Given the description of an element on the screen output the (x, y) to click on. 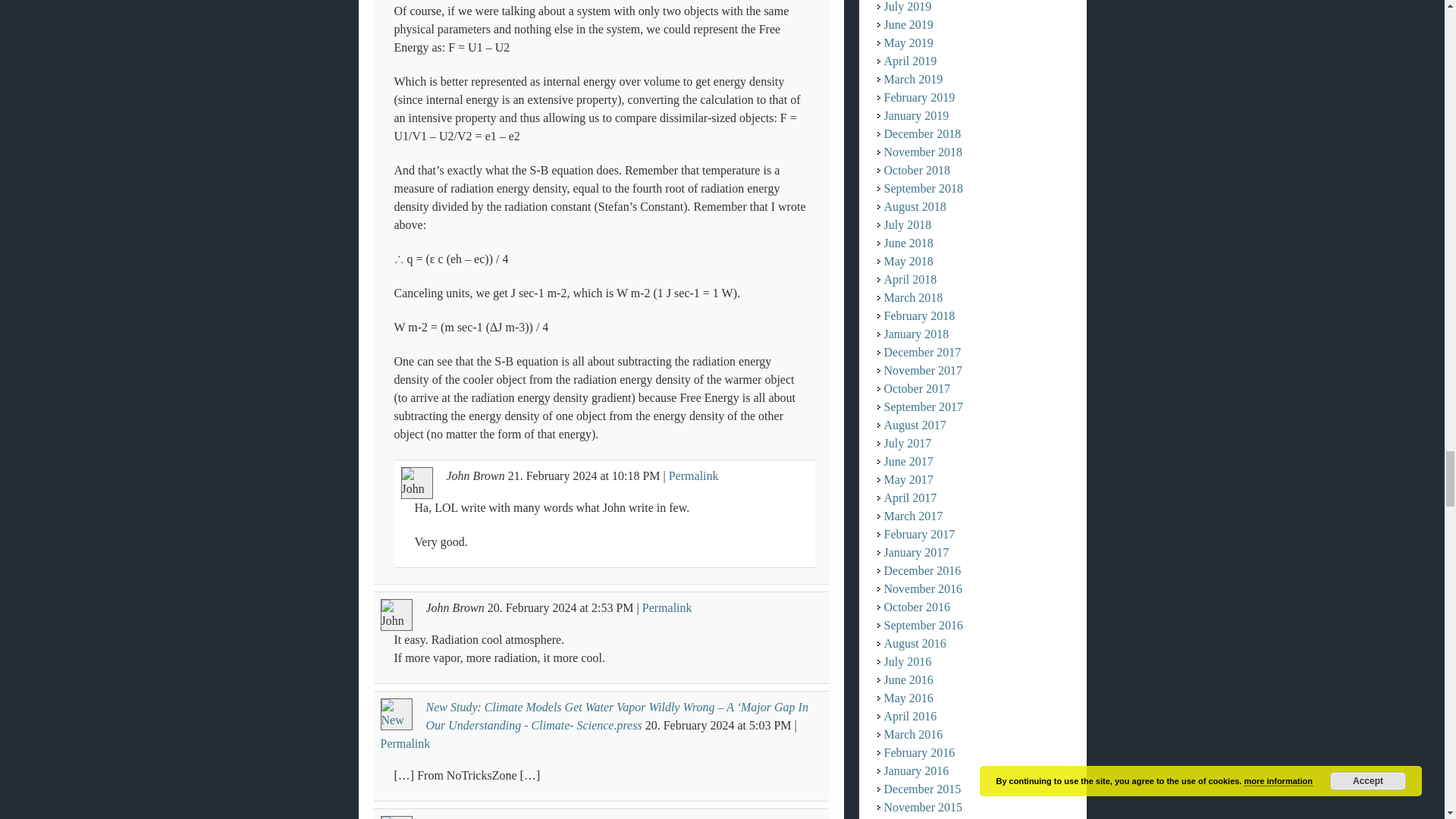
Permalink (667, 607)
Permalink (693, 475)
Permalink (405, 743)
